Given the description of an element on the screen output the (x, y) to click on. 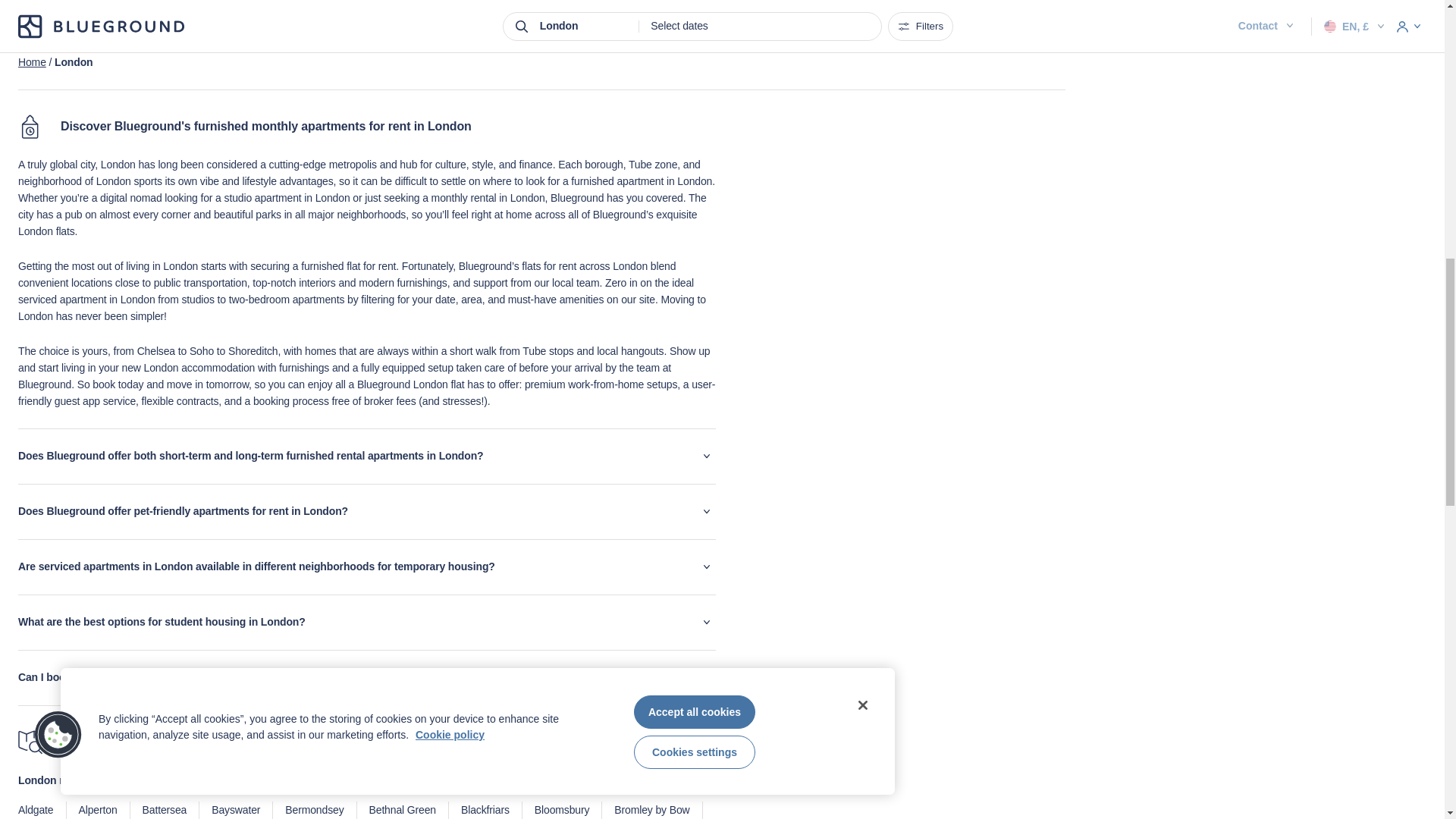
Blackfriars (485, 810)
Bromley by Bow (651, 810)
Bloomsbury (561, 810)
Bermondsey (314, 810)
Bethnal Green (402, 810)
Alperton (97, 810)
Bayswater (235, 810)
Aldgate (35, 810)
Battersea (164, 810)
Home (31, 62)
